Given the description of an element on the screen output the (x, y) to click on. 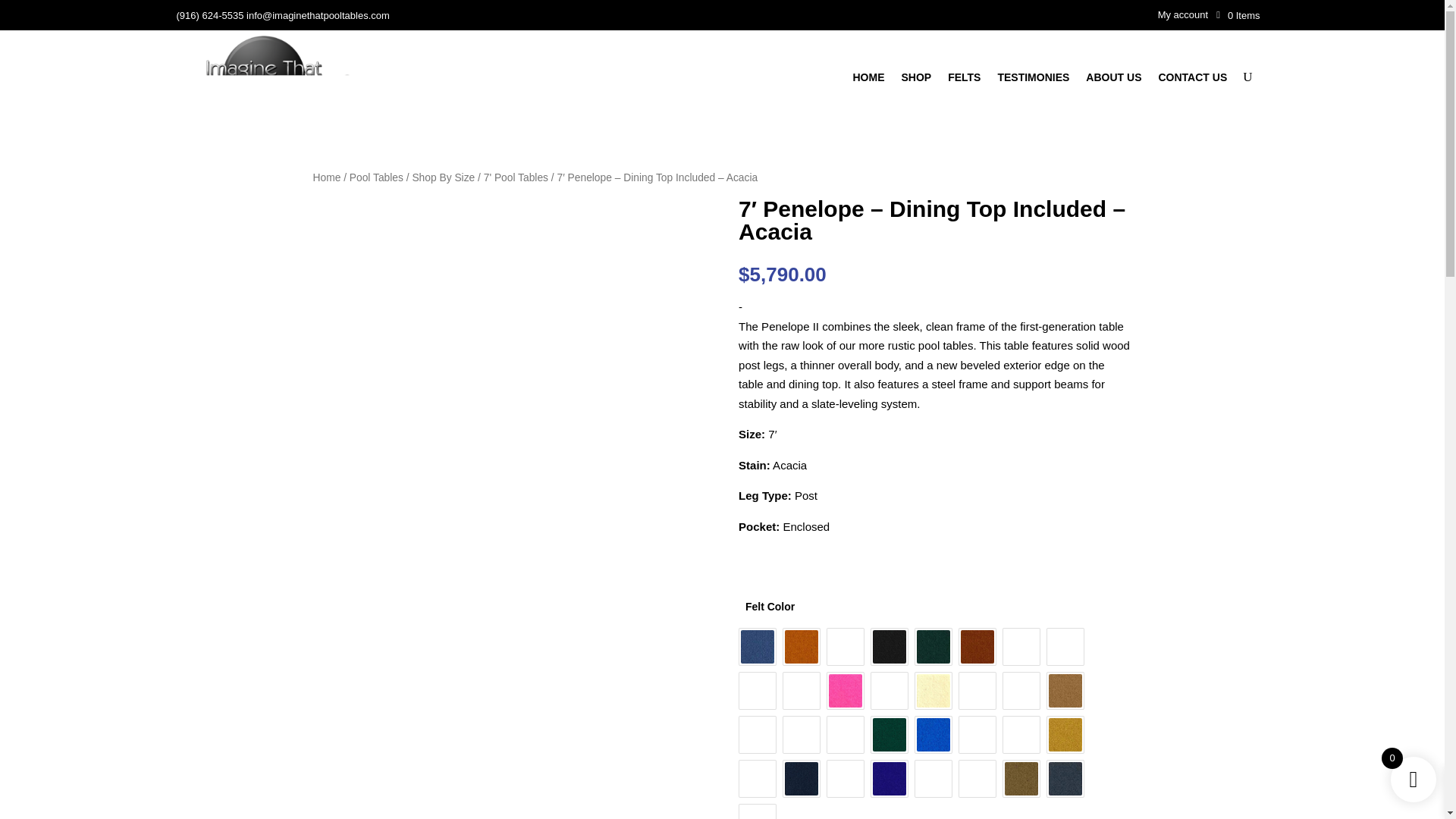
Imagine Pool Tables (263, 77)
CONTACT US (1192, 80)
ABOUT US (1113, 80)
7' Pool Tables (515, 177)
Shop By Size (443, 177)
SHOP (916, 80)
HOME (867, 80)
FELTS (963, 80)
TESTIMONIES (1032, 80)
My account (1182, 17)
0 Items (1237, 15)
Home (326, 177)
Pool Tables (376, 177)
